Given the description of an element on the screen output the (x, y) to click on. 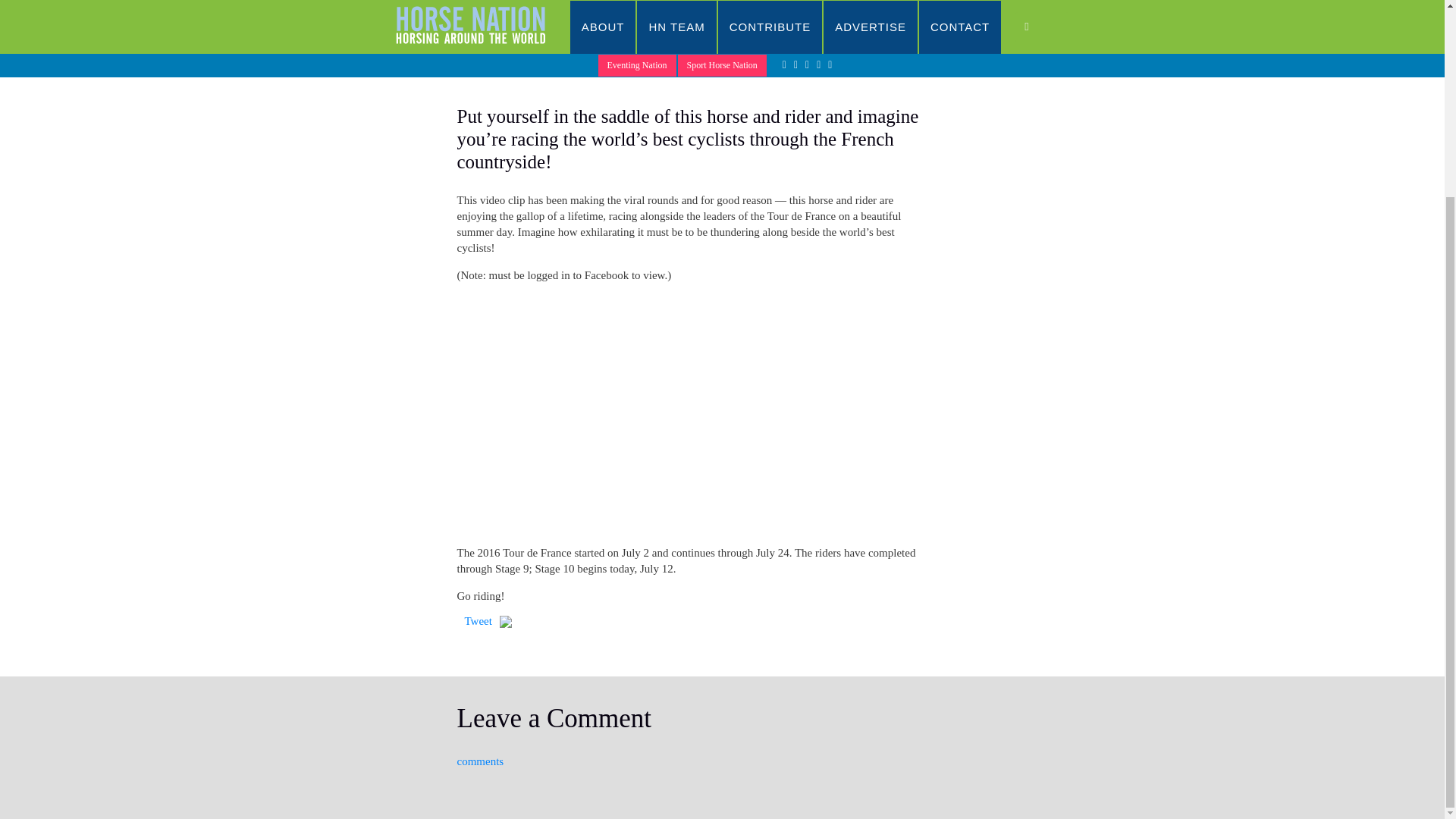
View all posts by Kristen Kovatch (568, 70)
Permalink to Tuesday Video: Tour de France Gets Horsepower (488, 70)
July 11, 2016 (488, 70)
Kristen Kovatch (652, 70)
Tweet (478, 621)
Leave a comment (795, 70)
Kristen Kovatch (722, 735)
